Given the description of an element on the screen output the (x, y) to click on. 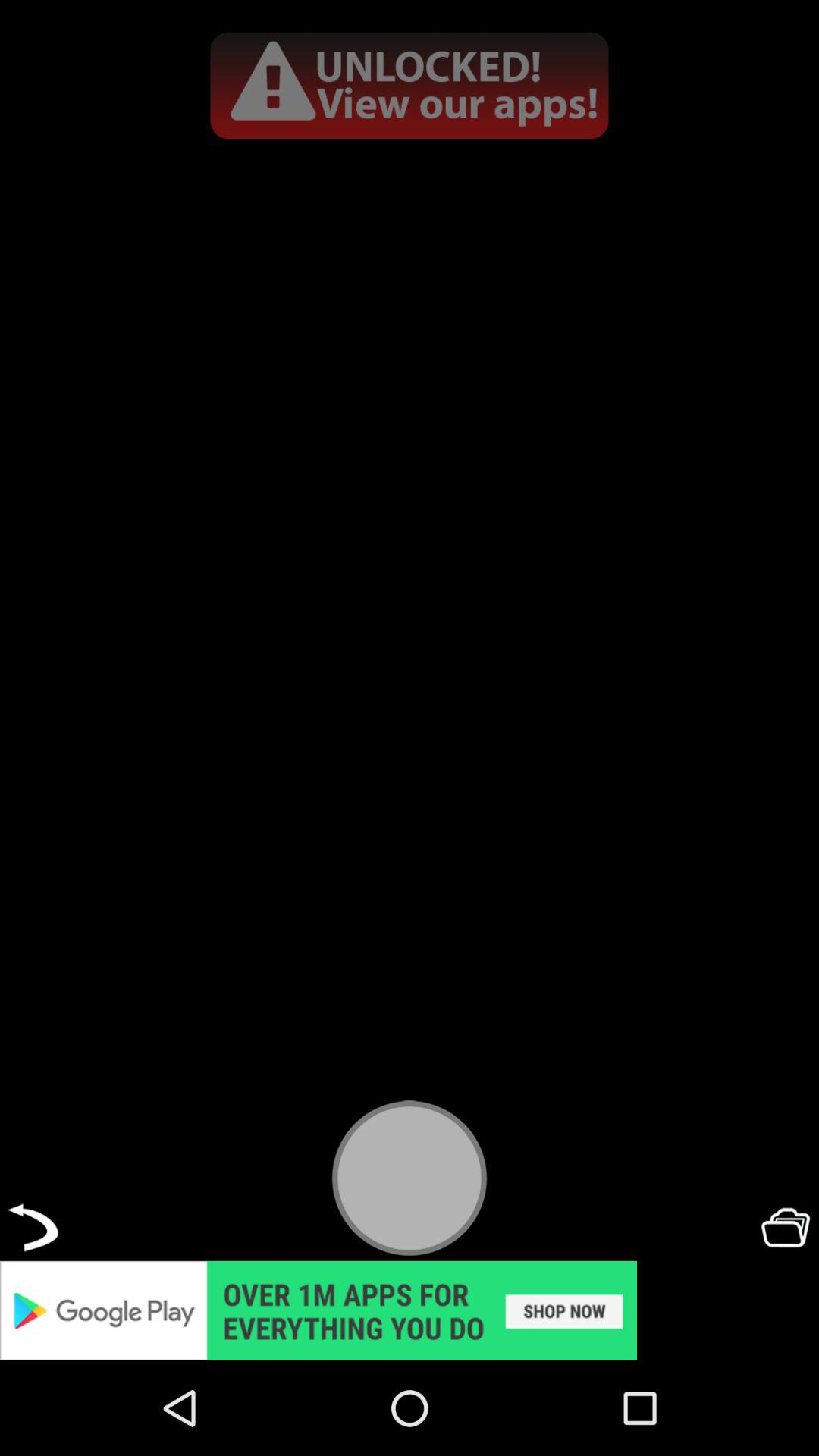
camera capture button (409, 1177)
